Given the description of an element on the screen output the (x, y) to click on. 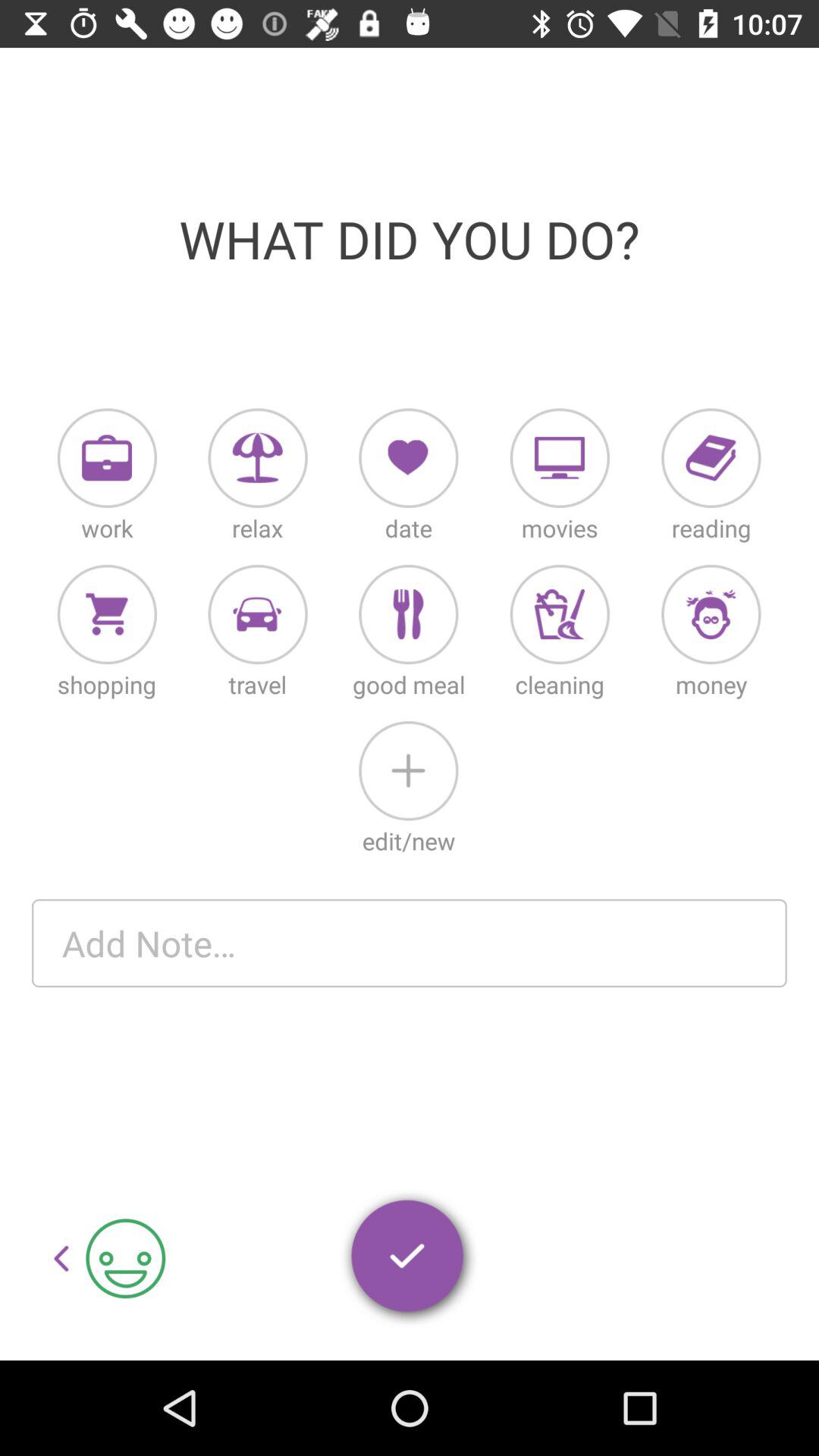
enter reading diary entry (710, 457)
